Given the description of an element on the screen output the (x, y) to click on. 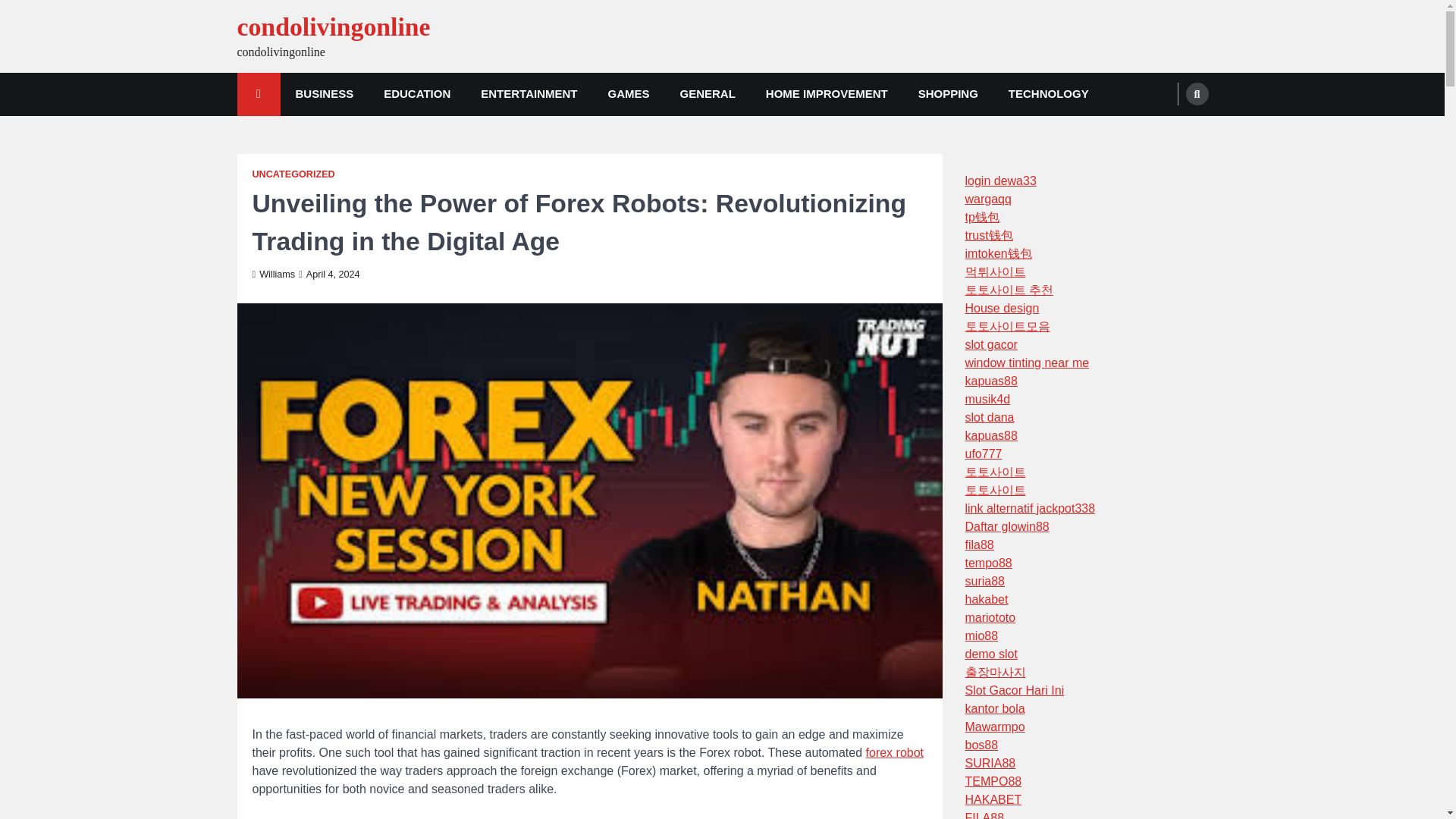
TECHNOLOGY (1047, 94)
wargaqq (986, 198)
Search (1168, 129)
slot gacor (989, 344)
musik4d (986, 399)
GENERAL (706, 94)
ENTERTAINMENT (528, 94)
April 4, 2024 (328, 274)
forex robot (894, 752)
condolivingonline (332, 26)
GAMES (627, 94)
EDUCATION (416, 94)
SHOPPING (947, 94)
window tinting near me (1026, 362)
UNCATEGORIZED (292, 174)
